Given the description of an element on the screen output the (x, y) to click on. 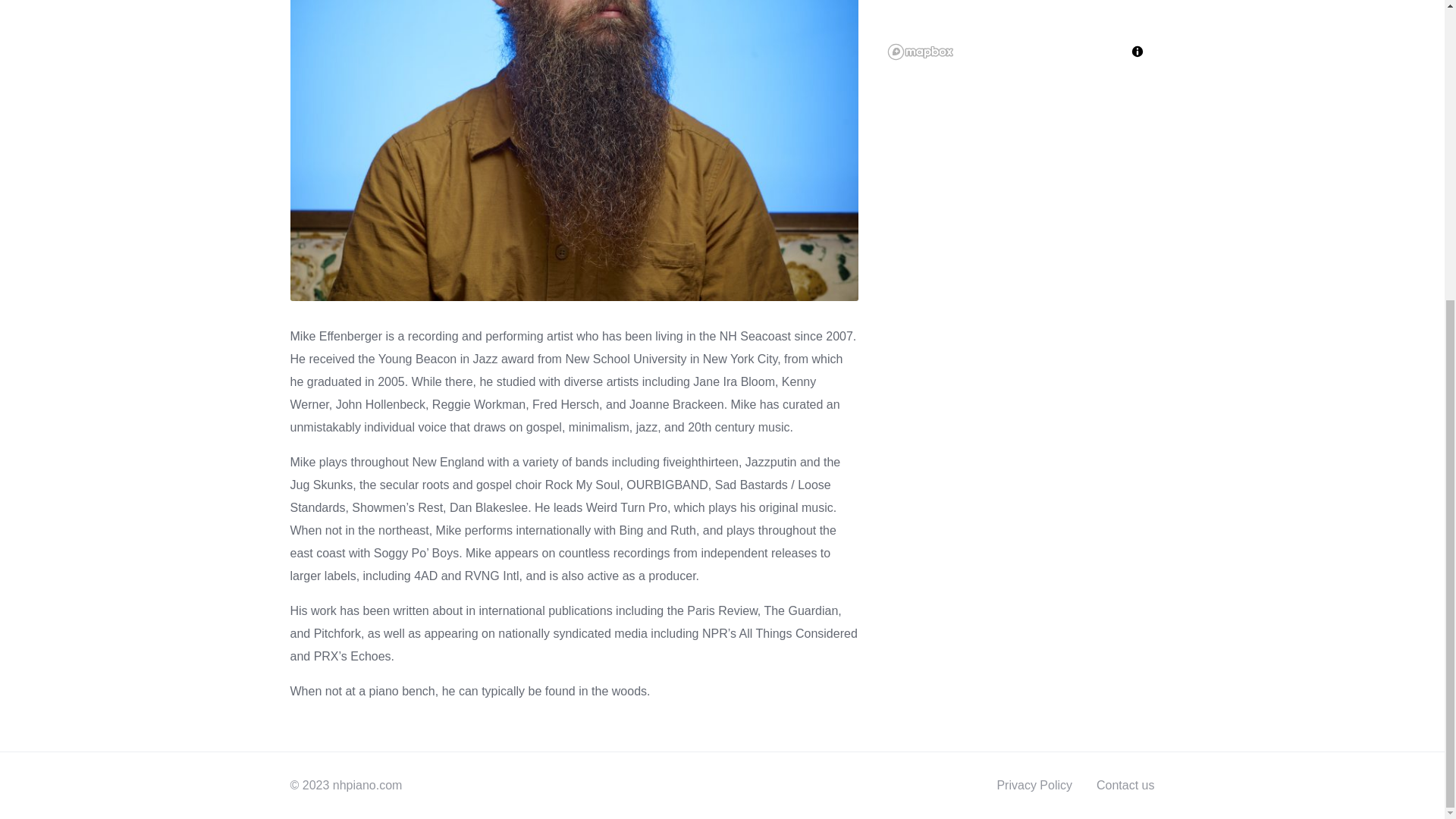
Privacy Policy (1033, 784)
Contact us (1125, 784)
